Given the description of an element on the screen output the (x, y) to click on. 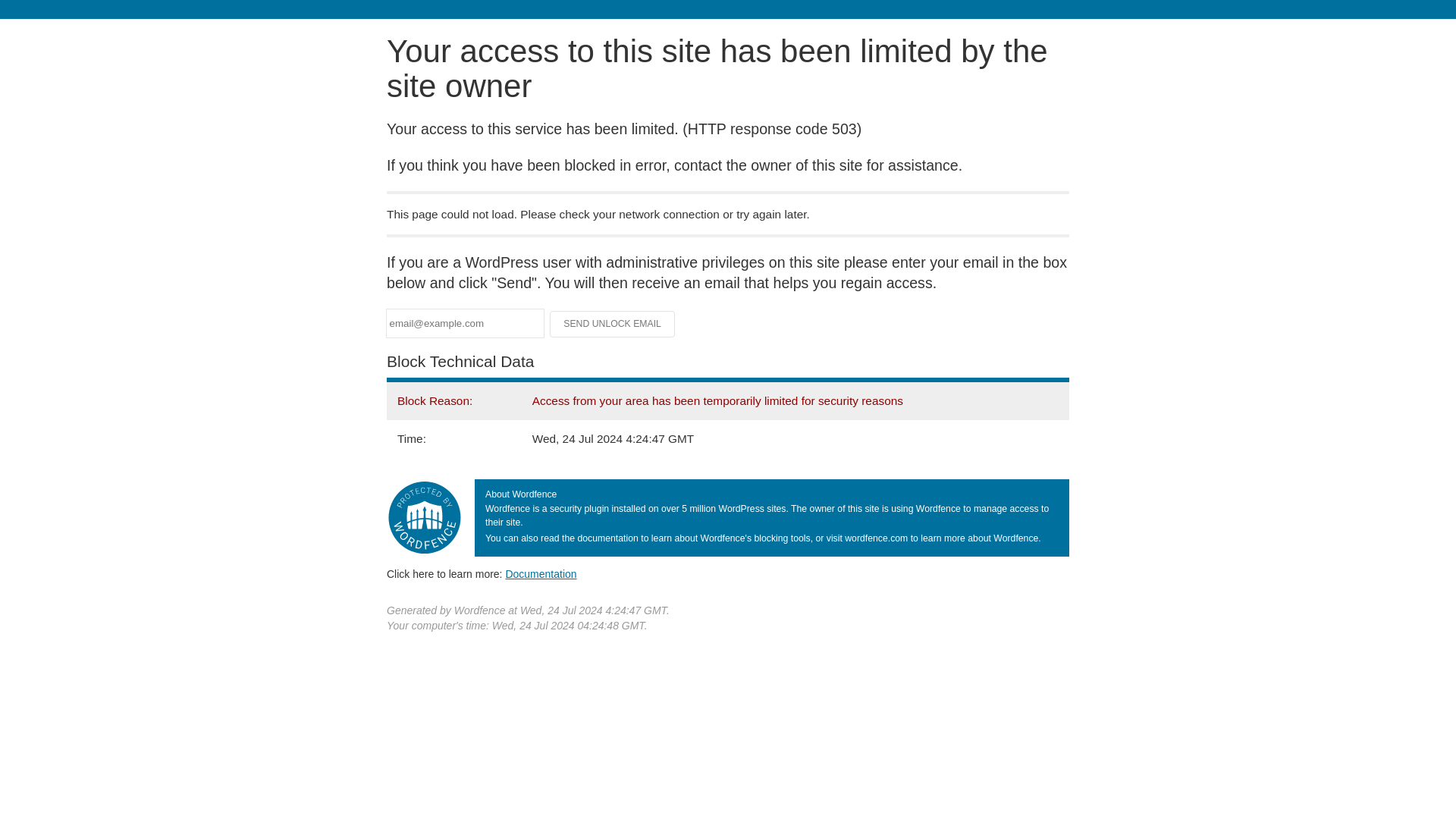
Send Unlock Email (612, 323)
Send Unlock Email (612, 323)
